Given the description of an element on the screen output the (x, y) to click on. 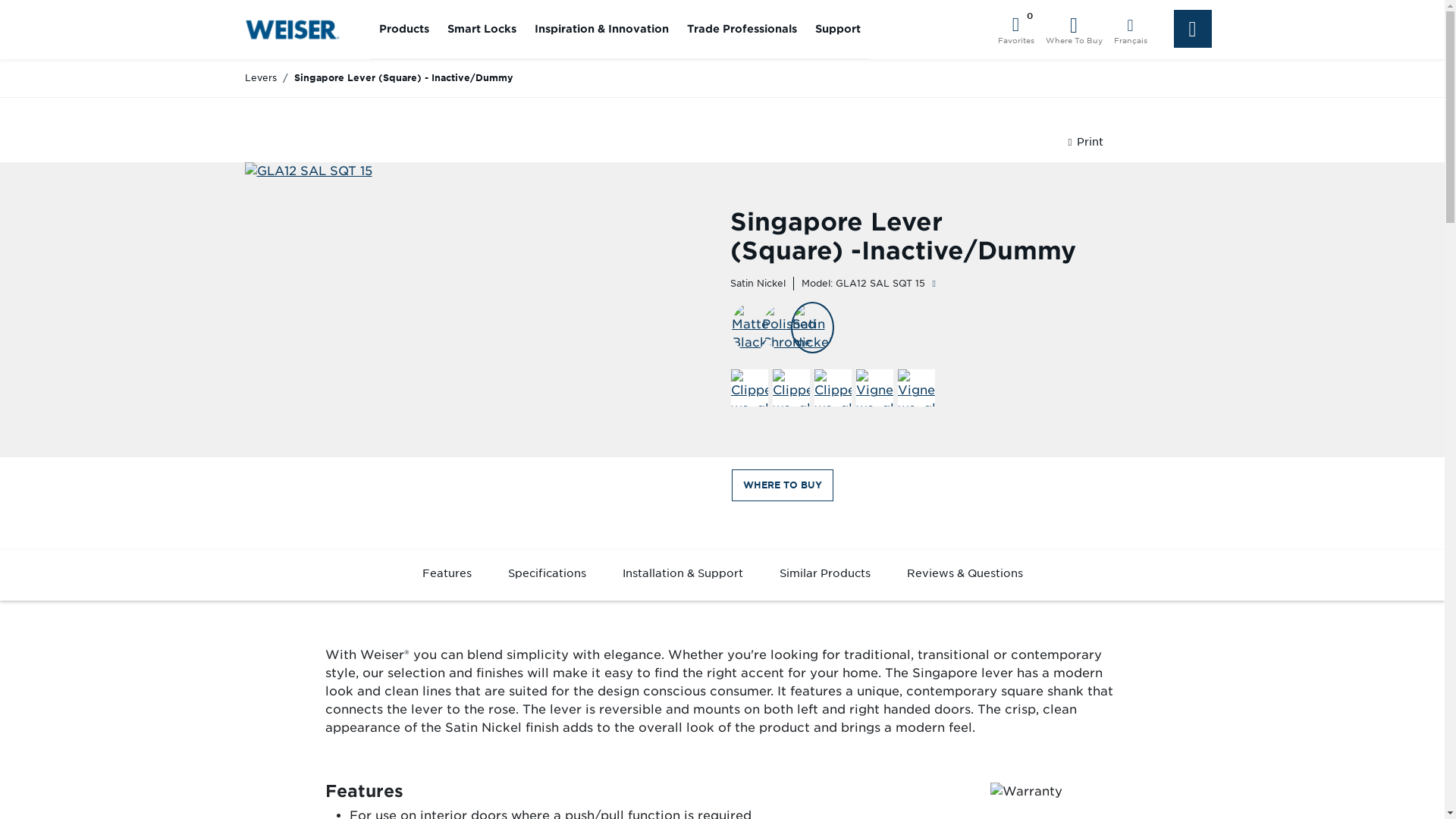
Support (837, 28)
Products (403, 28)
Smart Locks (481, 28)
Favorites (1015, 29)
Trade Professionals (742, 28)
Levers (260, 77)
Where To Buy (1073, 29)
